Given the description of an element on the screen output the (x, y) to click on. 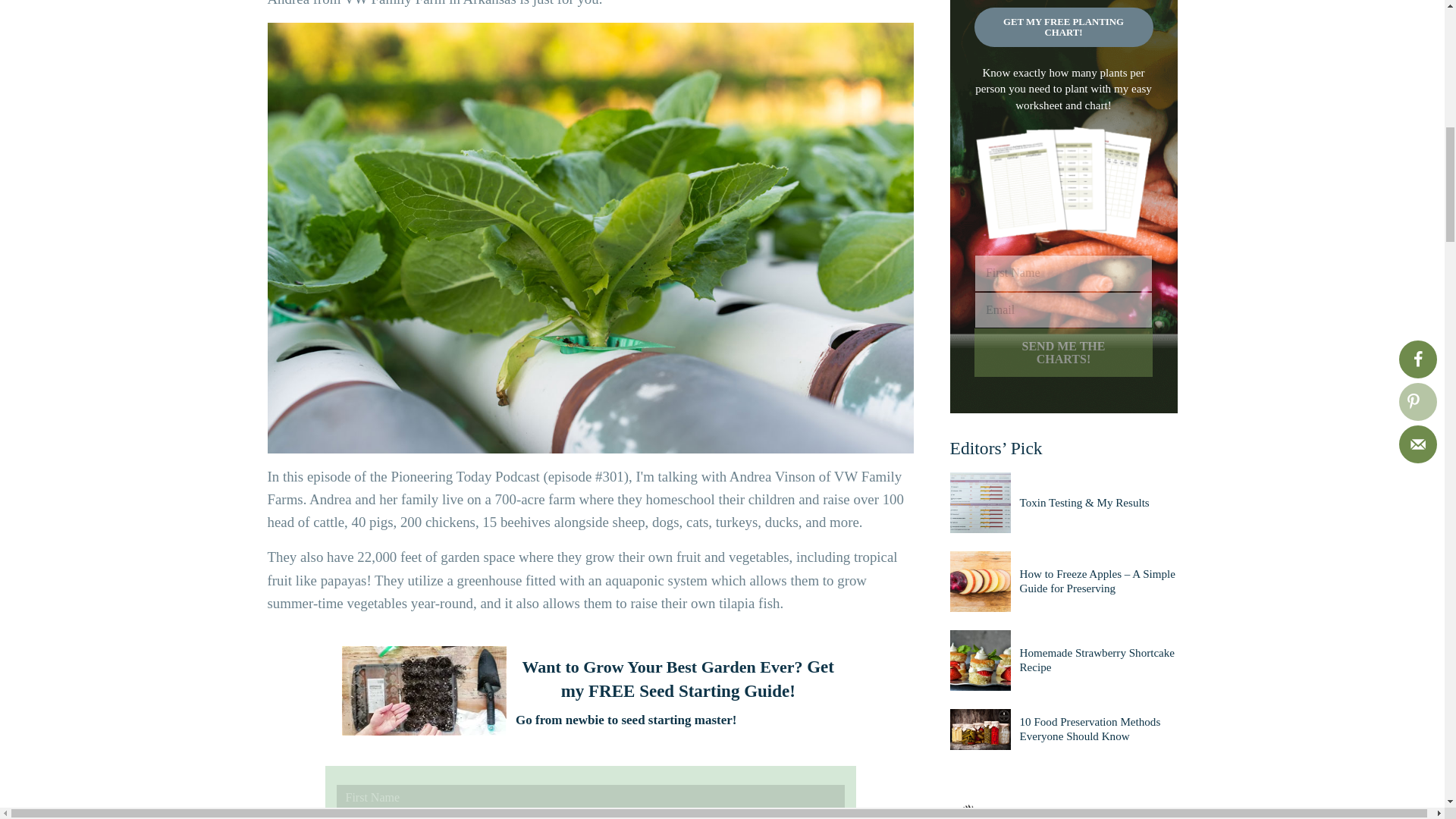
Shift-click to edit this widget. (1062, 810)
